Given the description of an element on the screen output the (x, y) to click on. 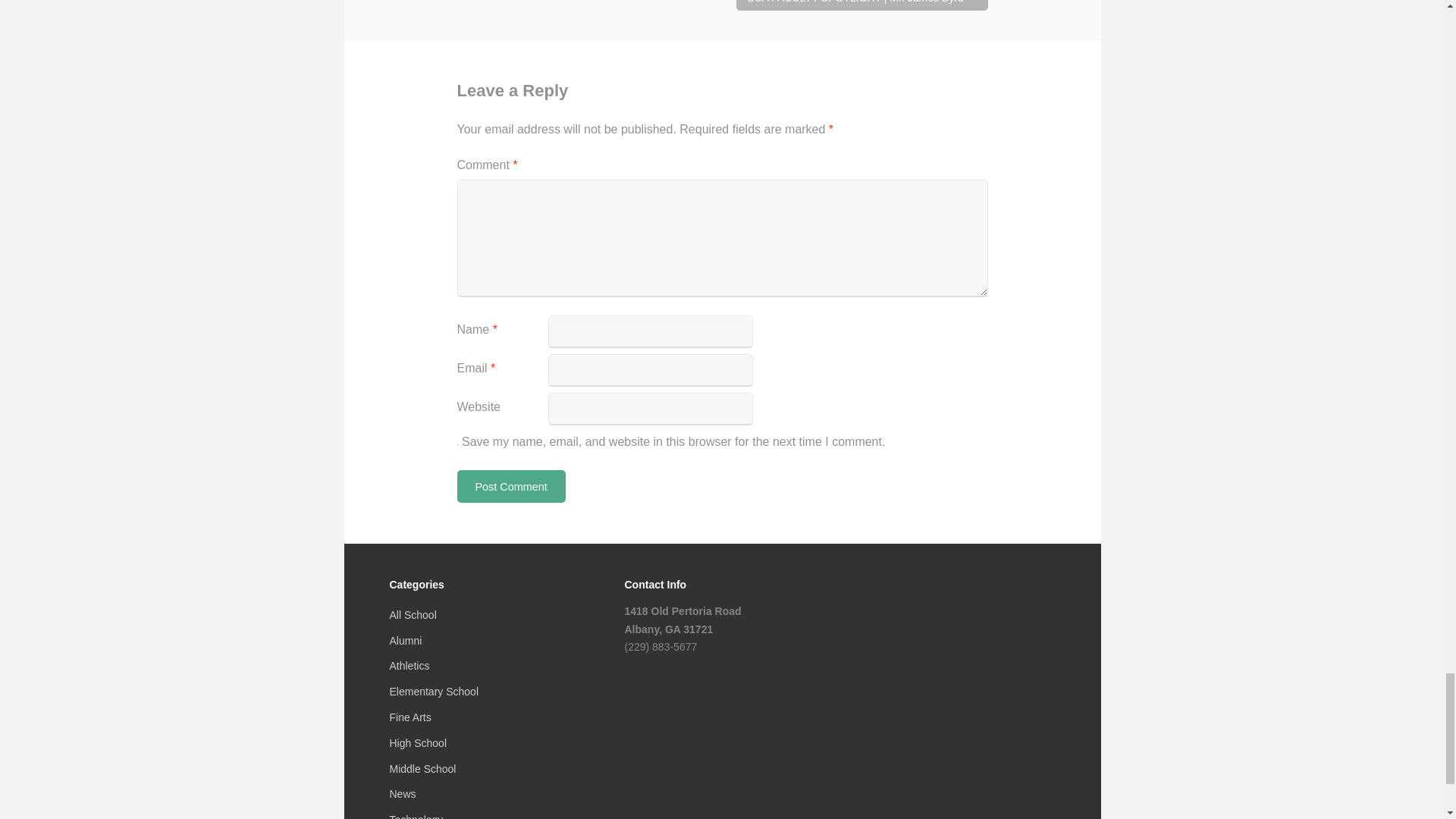
Athletics (409, 665)
Technology (417, 816)
High School (418, 743)
News (403, 793)
Alumni (406, 640)
Post Comment (510, 486)
Post Comment (510, 486)
All School (413, 614)
Middle School (423, 768)
Fine Arts (410, 717)
